Given the description of an element on the screen output the (x, y) to click on. 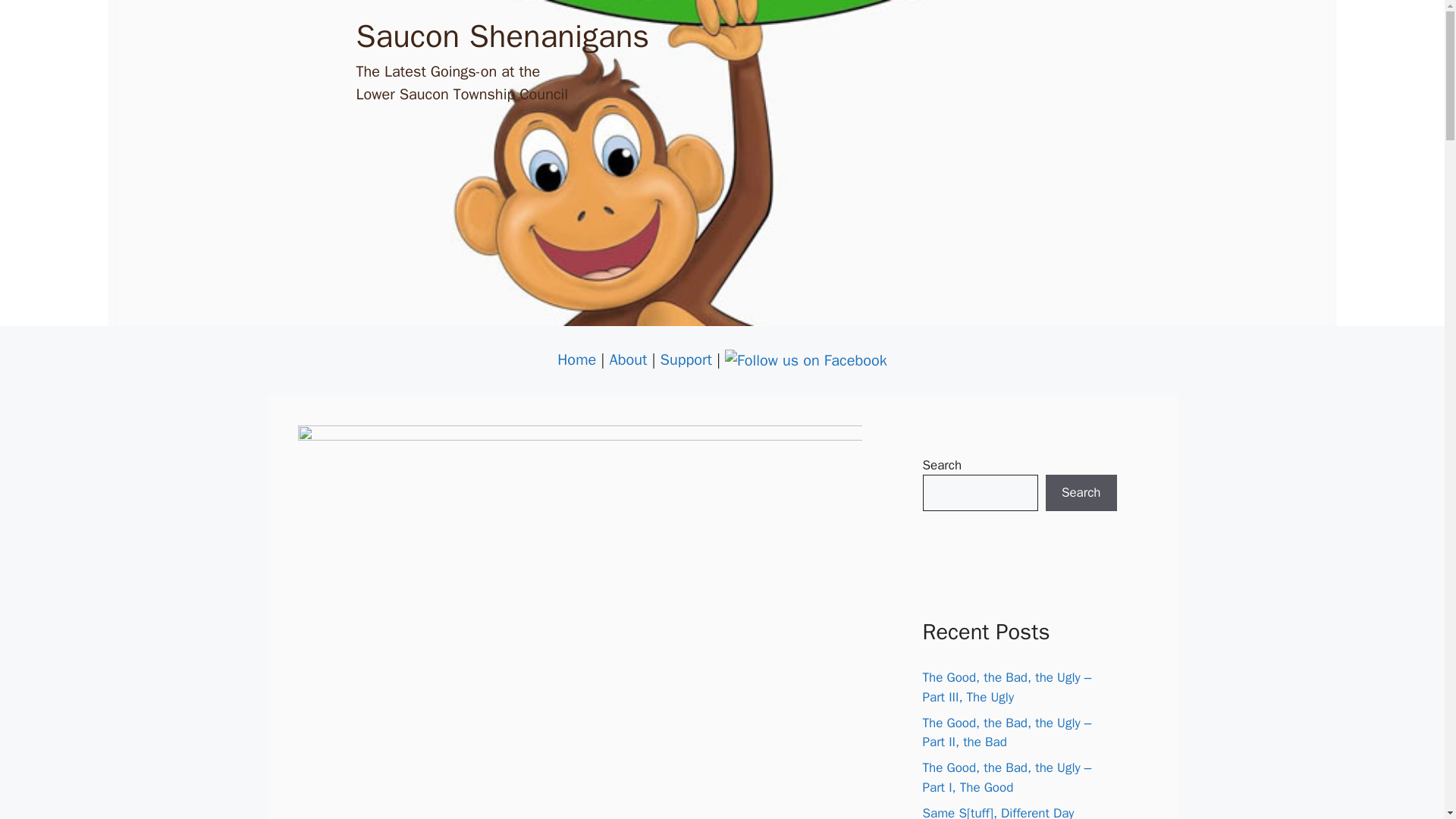
Home (576, 359)
About (628, 359)
Support (686, 359)
Search (1080, 493)
Saucon Shenanigans (502, 36)
